Given the description of an element on the screen output the (x, y) to click on. 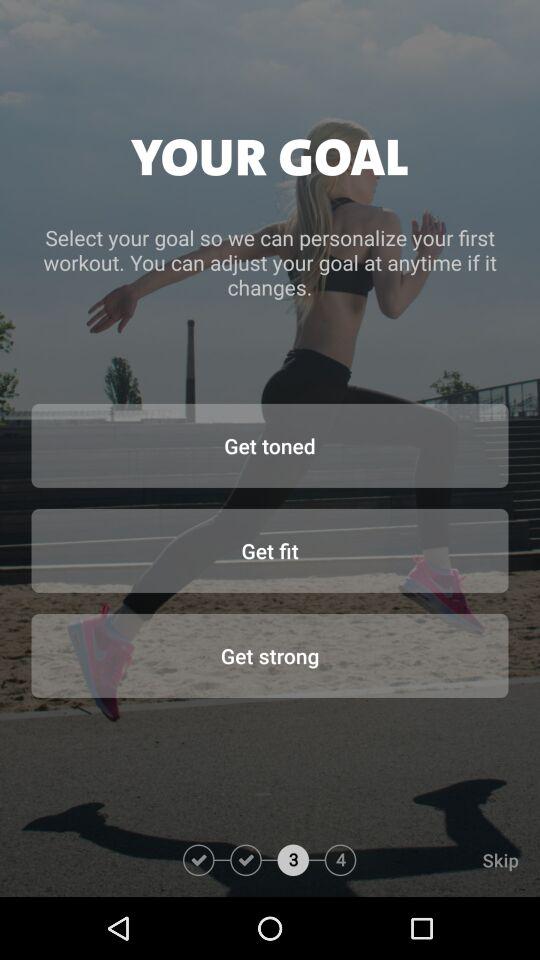
press the item below select your goal item (269, 445)
